Given the description of an element on the screen output the (x, y) to click on. 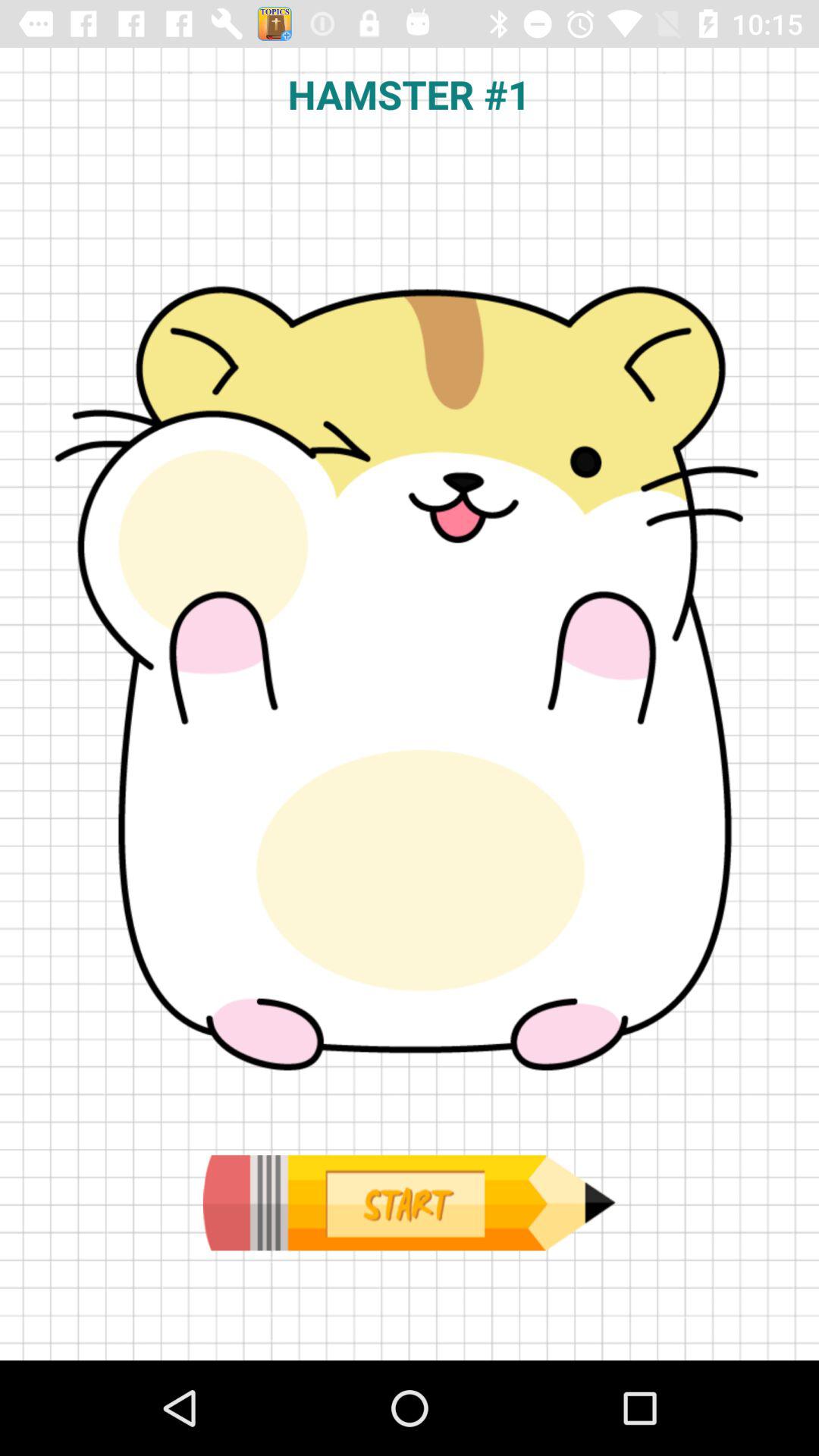
start drawing (409, 1202)
